Given the description of an element on the screen output the (x, y) to click on. 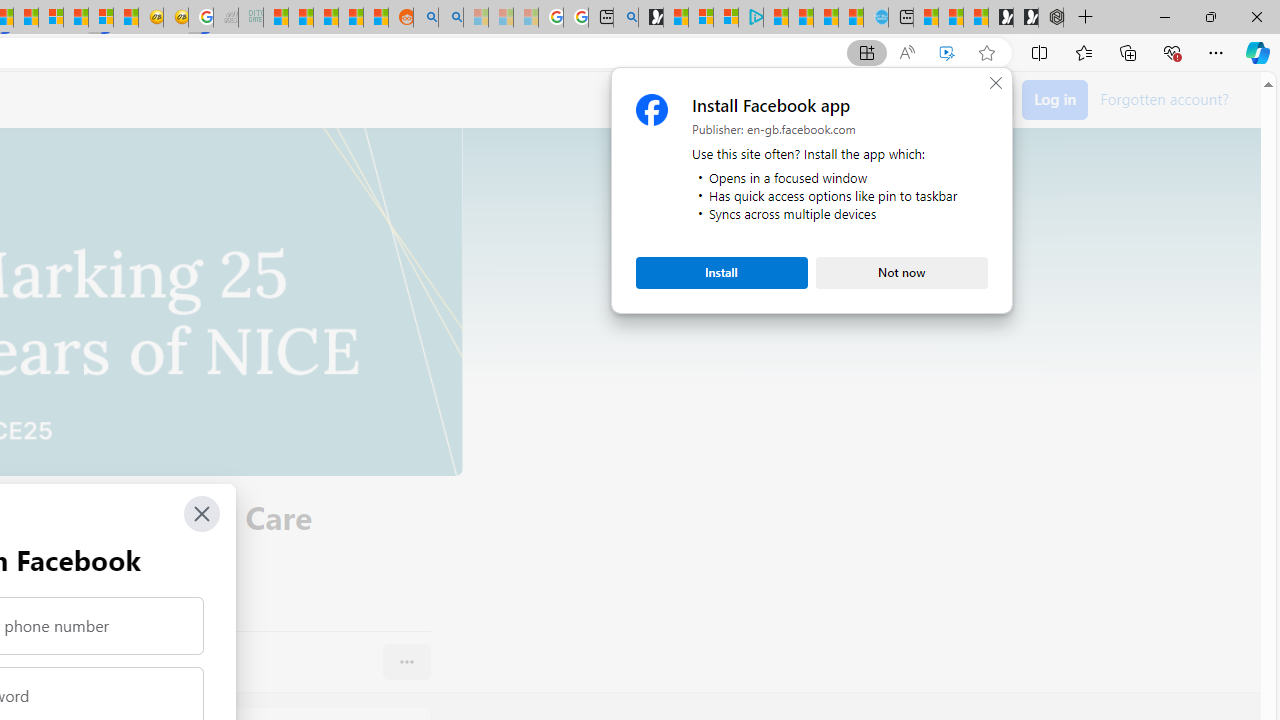
Student Loan Update: Forgiveness Program Ends This Month (351, 17)
Home | Sky Blue Bikes - Sky Blue Bikes (876, 17)
Forgotten account? (1163, 97)
14 Common Myths Debunked By Scientific Facts (26, 17)
Not now (902, 272)
DITOGAMES AG Imprint - Sleeping (250, 17)
